Given the description of an element on the screen output the (x, y) to click on. 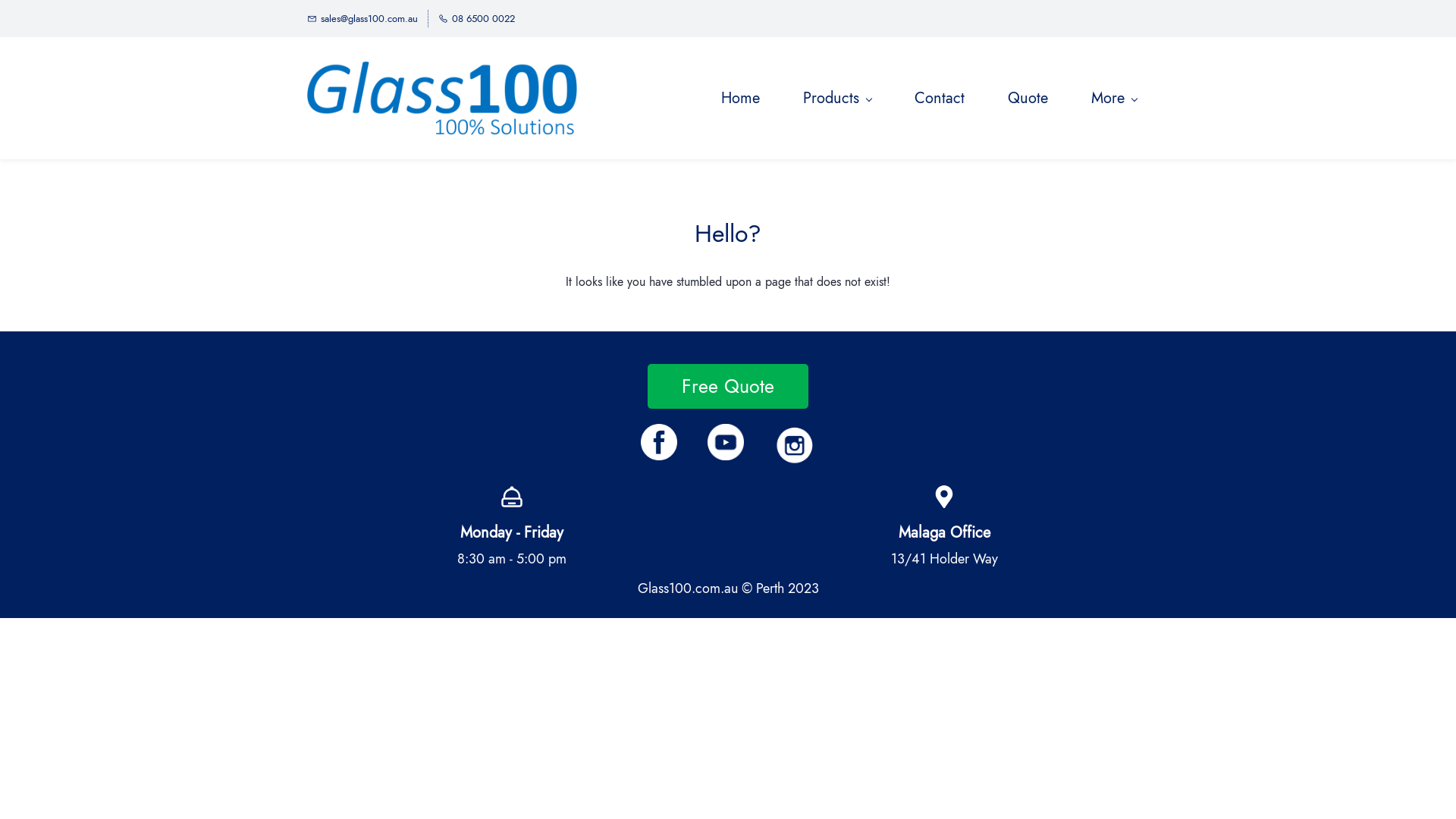
Free Quote Element type: text (727, 386)
08 6500 0022 Element type: text (476, 18)
More Element type: text (1113, 98)
sales@glass100.com.au Element type: text (362, 18)
Home Element type: text (740, 98)
Contact Element type: text (939, 98)
Products Element type: text (836, 98)
Quote Element type: text (1027, 98)
